Given the description of an element on the screen output the (x, y) to click on. 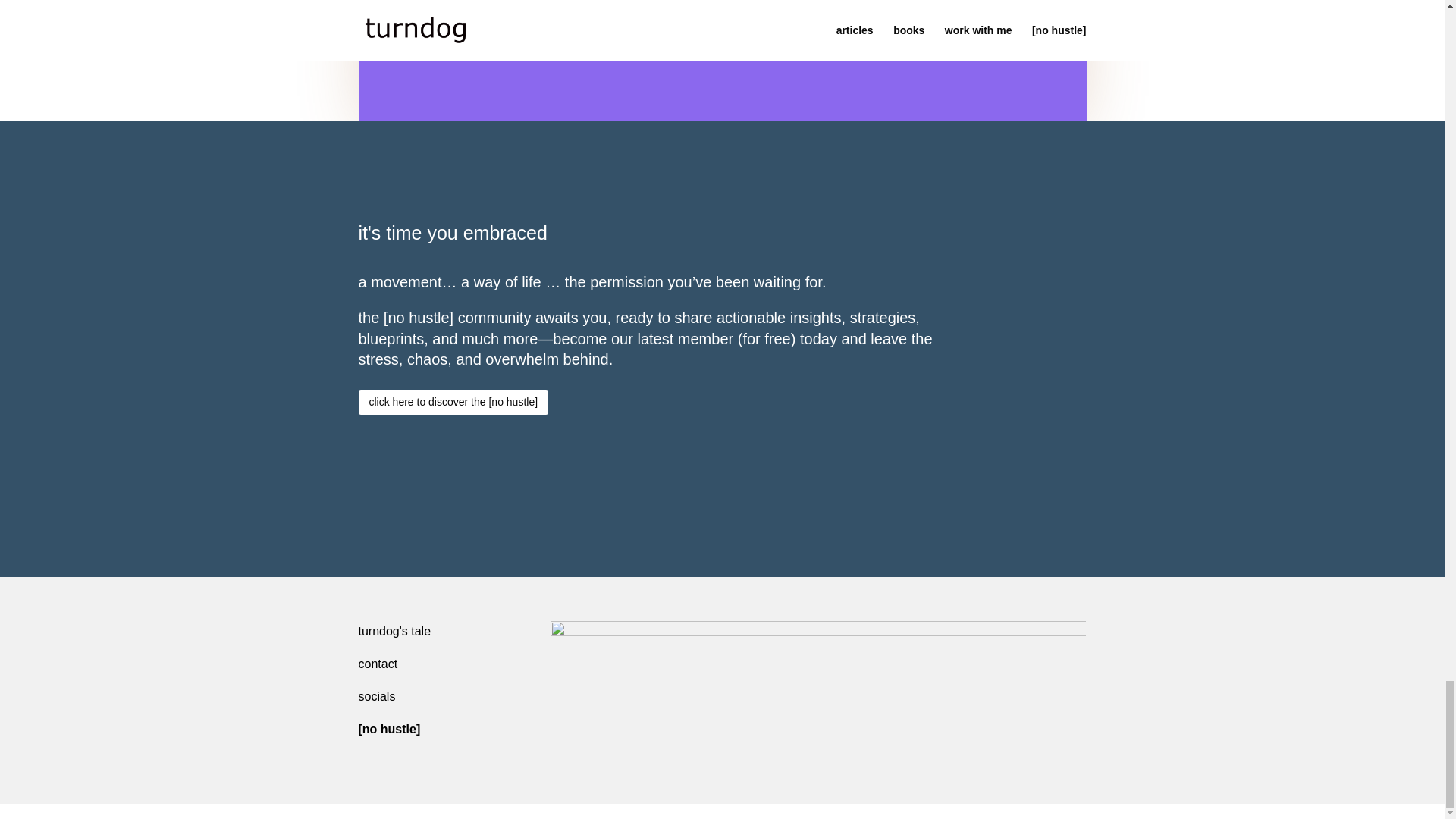
turndog's tale (394, 631)
socials (376, 696)
contact (377, 663)
